Given the description of an element on the screen output the (x, y) to click on. 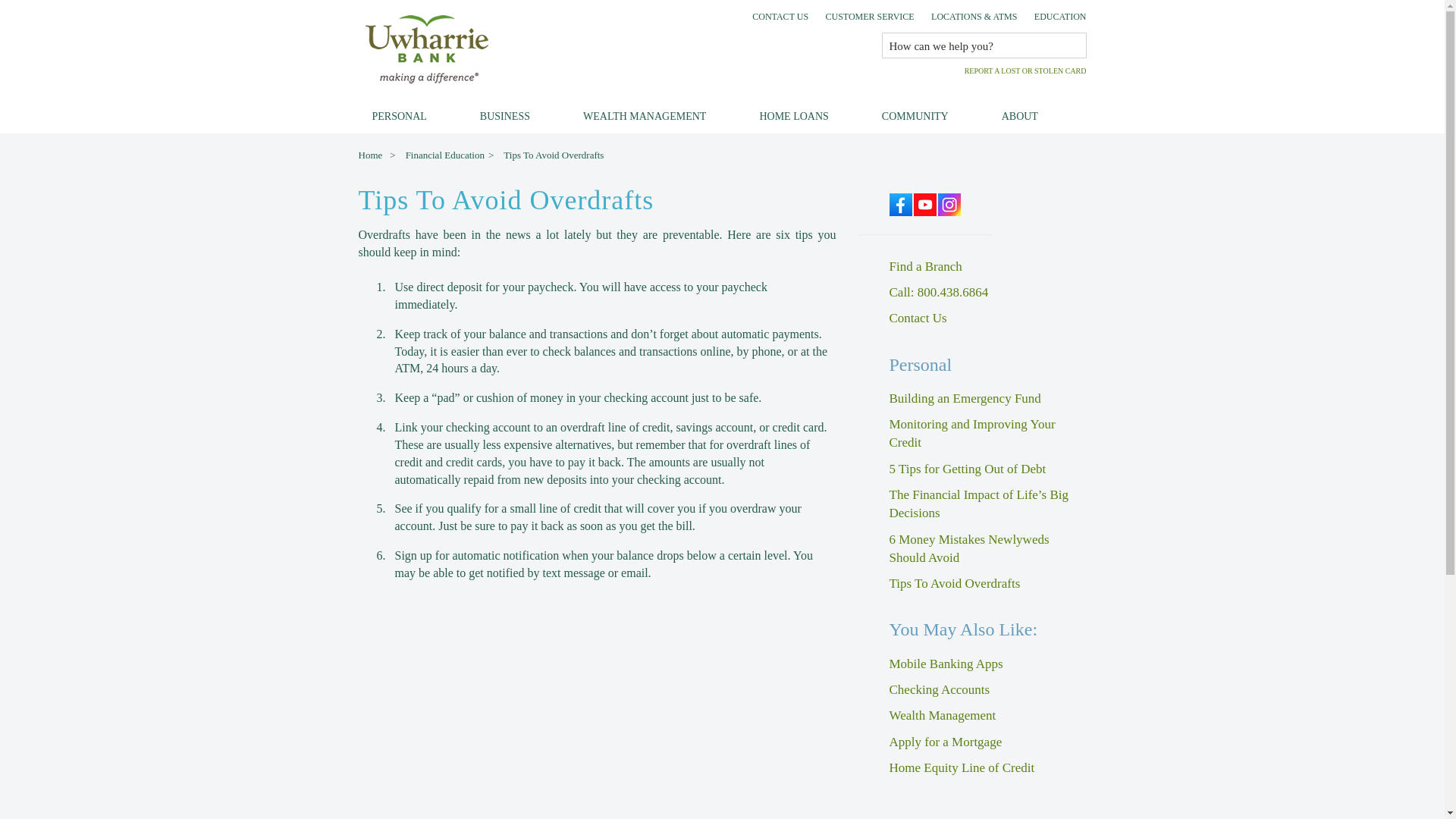
CONTACT US (780, 16)
CUSTOMER SERVICE (869, 16)
REPORT A LOST OR STOLEN CARD (1024, 71)
Facebook (899, 203)
Search for: (979, 45)
Instagram (948, 203)
Go to Home. (371, 154)
Go to Financial Education. (446, 154)
YouTube (925, 203)
PERSONAL (399, 116)
